Given the description of an element on the screen output the (x, y) to click on. 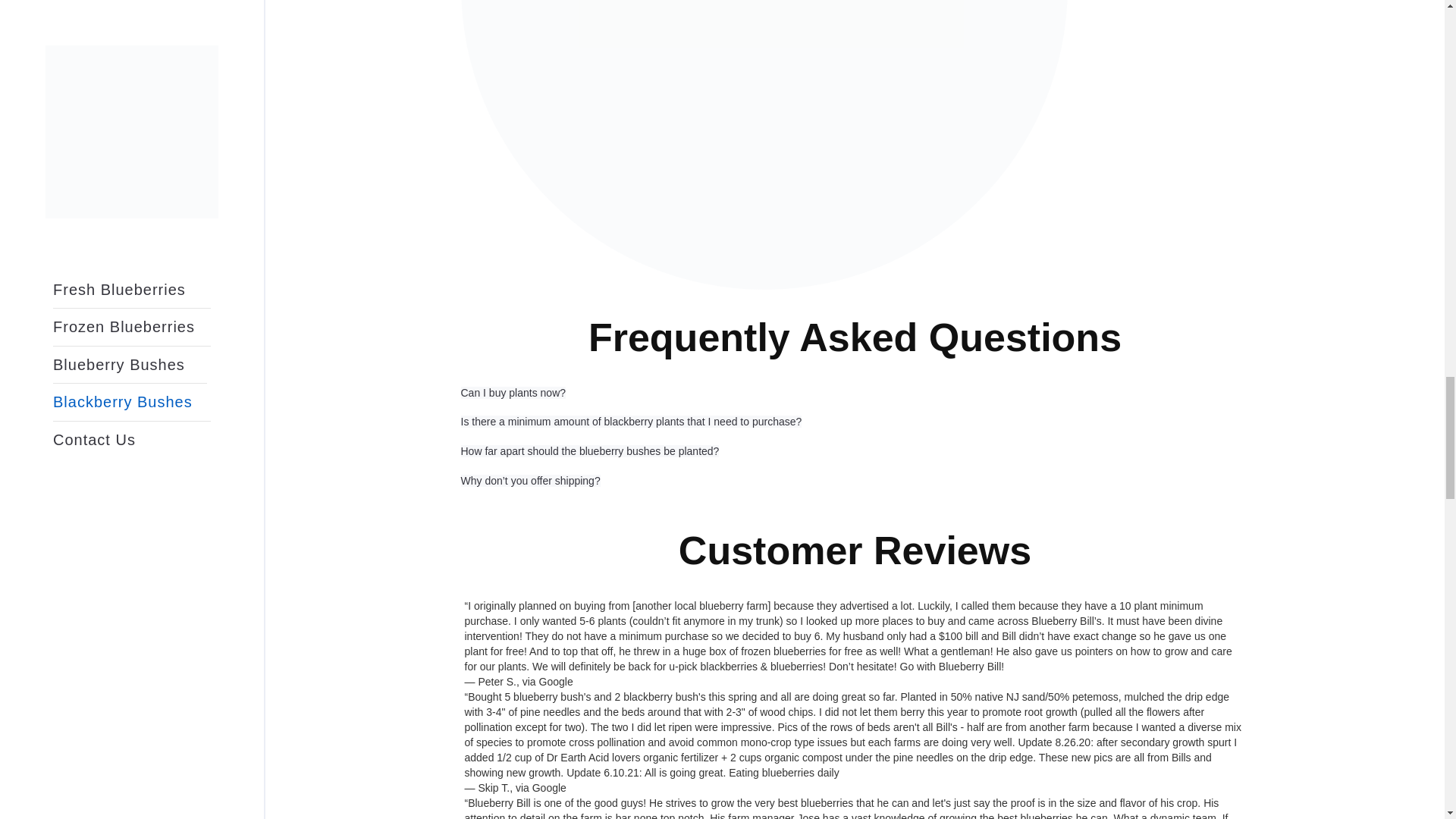
How far apart should the blueberry bushes be planted? (590, 451)
Can I buy plants now? (513, 392)
